Given the description of an element on the screen output the (x, y) to click on. 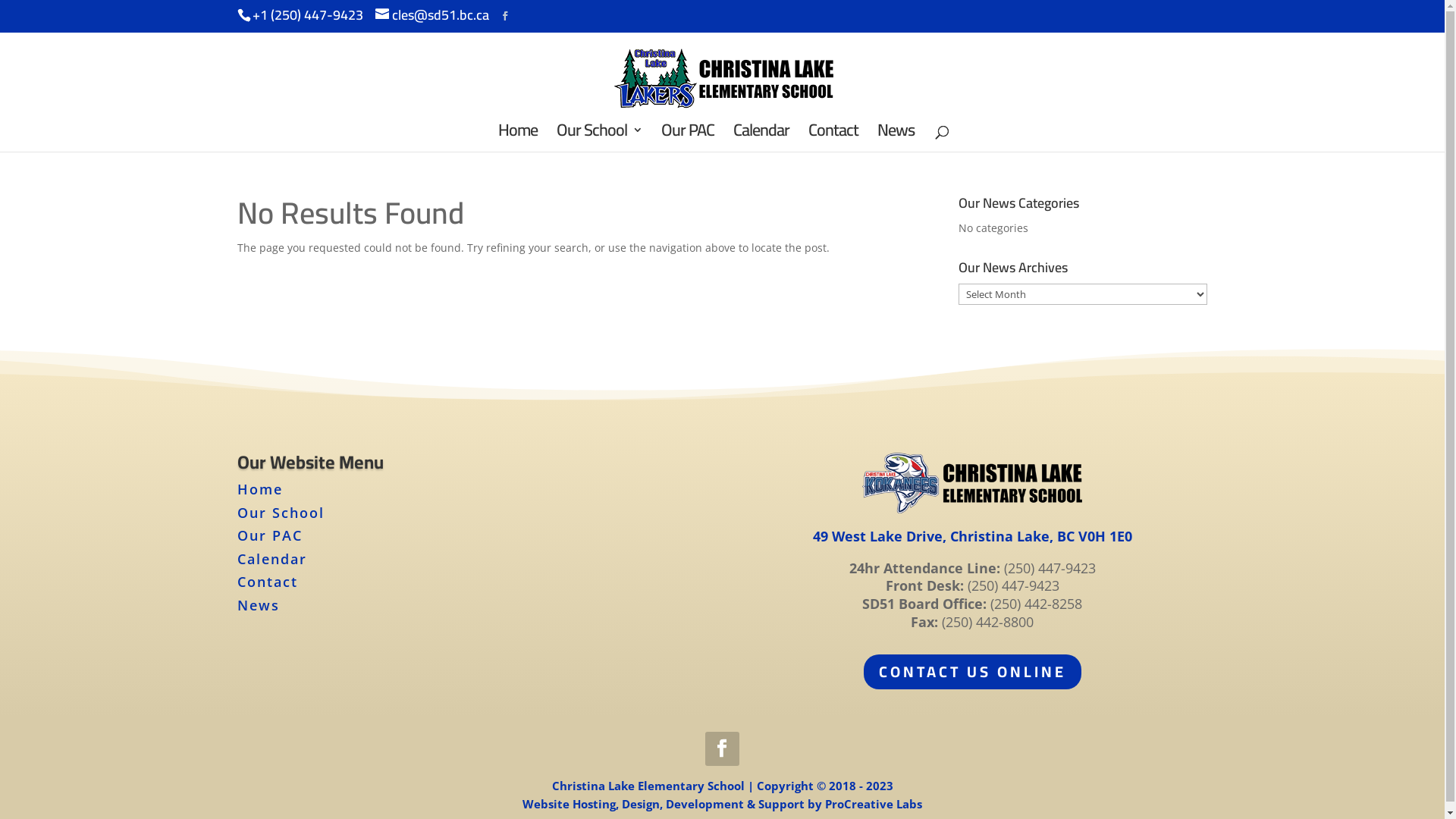
Our School Element type: text (599, 137)
Our School Element type: text (279, 512)
Home Element type: text (259, 489)
CONTACT US ONLINE Element type: text (972, 671)
Home Element type: text (516, 137)
GFSS Logo Element type: hover (972, 482)
News Element type: text (894, 137)
Calendar Element type: text (271, 558)
Our PAC Element type: text (687, 137)
Calendar Element type: text (760, 137)
Our PAC Element type: text (268, 535)
49 West Lake Drive, Christina Lake, BC V0H 1E0 Element type: text (972, 536)
News Element type: text (257, 605)
Contact Element type: text (266, 581)
Contact Element type: text (833, 137)
cles@sd51.bc.ca Element type: text (431, 14)
